Given the description of an element on the screen output the (x, y) to click on. 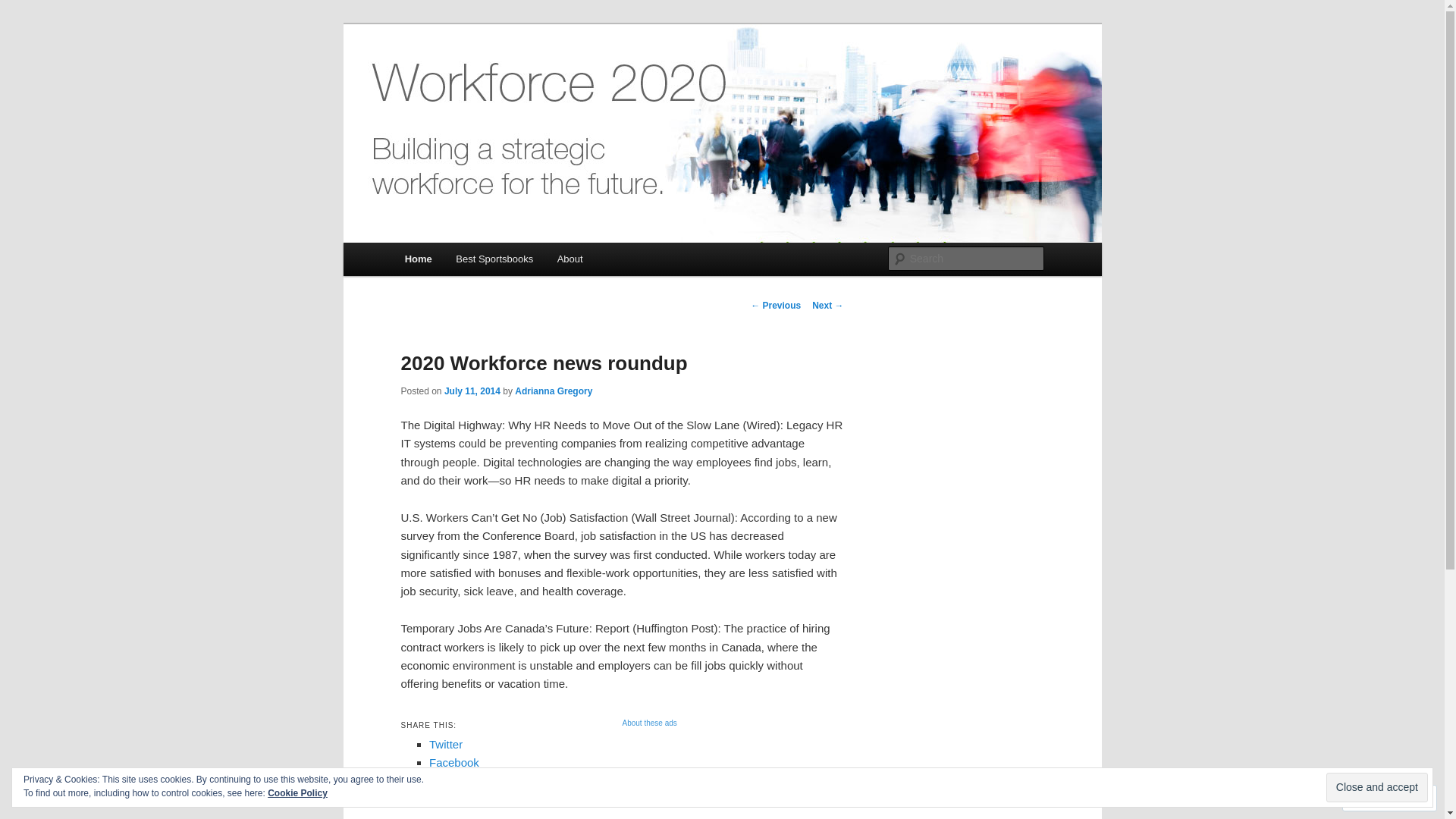
Facebook Element type: text (454, 762)
Adrianna Gregory Element type: text (553, 390)
Close and accept Element type: text (1376, 787)
About Element type: text (569, 258)
Google Element type: text (447, 781)
Home Element type: text (418, 258)
Skip to primary content Element type: text (414, 242)
Cookie Policy Element type: text (297, 792)
Twitter Element type: text (445, 743)
Search Element type: text (24, 8)
About these ads Element type: text (682, 723)
July 11, 2014 Element type: text (472, 390)
Best Sportsbooks Element type: text (494, 258)
Follow Element type: text (1376, 797)
Workforce 2020 Element type: text (484, 78)
